Given the description of an element on the screen output the (x, y) to click on. 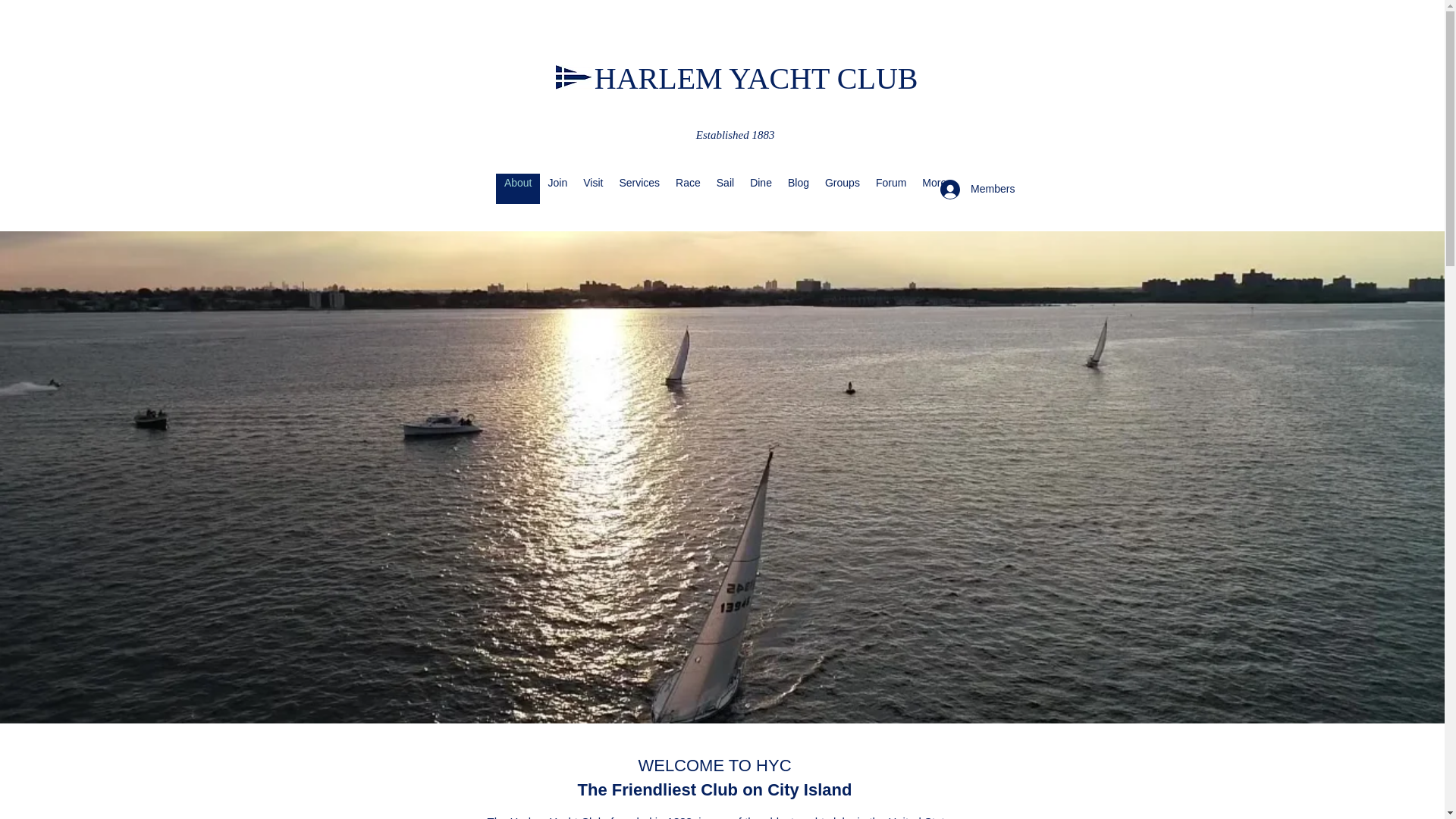
Blog (797, 188)
Dine (759, 188)
Groups (841, 188)
Join (557, 188)
HARLEM YACHT CLUB (756, 78)
Race (686, 188)
About (518, 188)
Members (975, 189)
Services (638, 188)
Forum (890, 188)
